Given the description of an element on the screen output the (x, y) to click on. 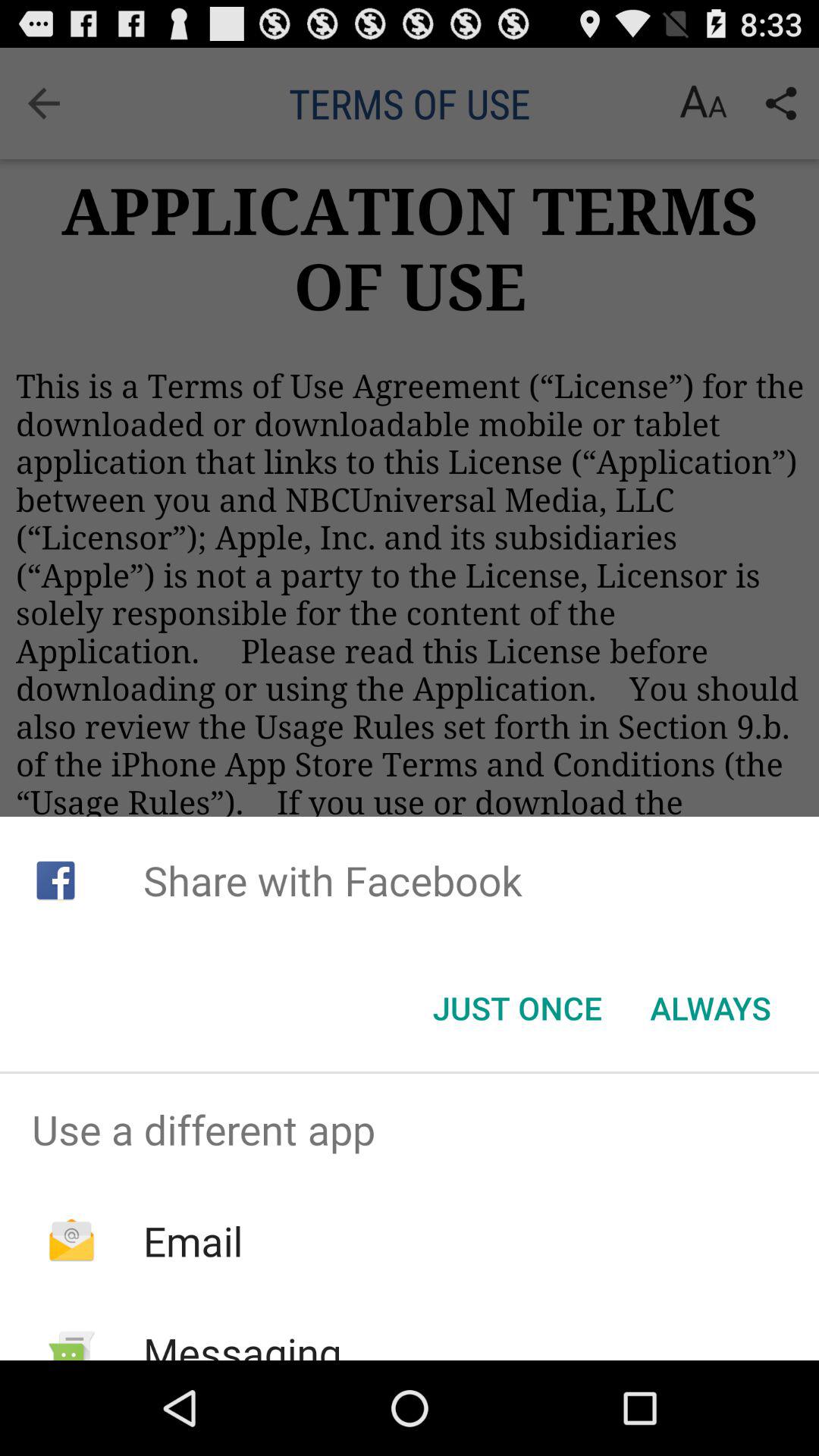
click the item above messaging (192, 1240)
